Given the description of an element on the screen output the (x, y) to click on. 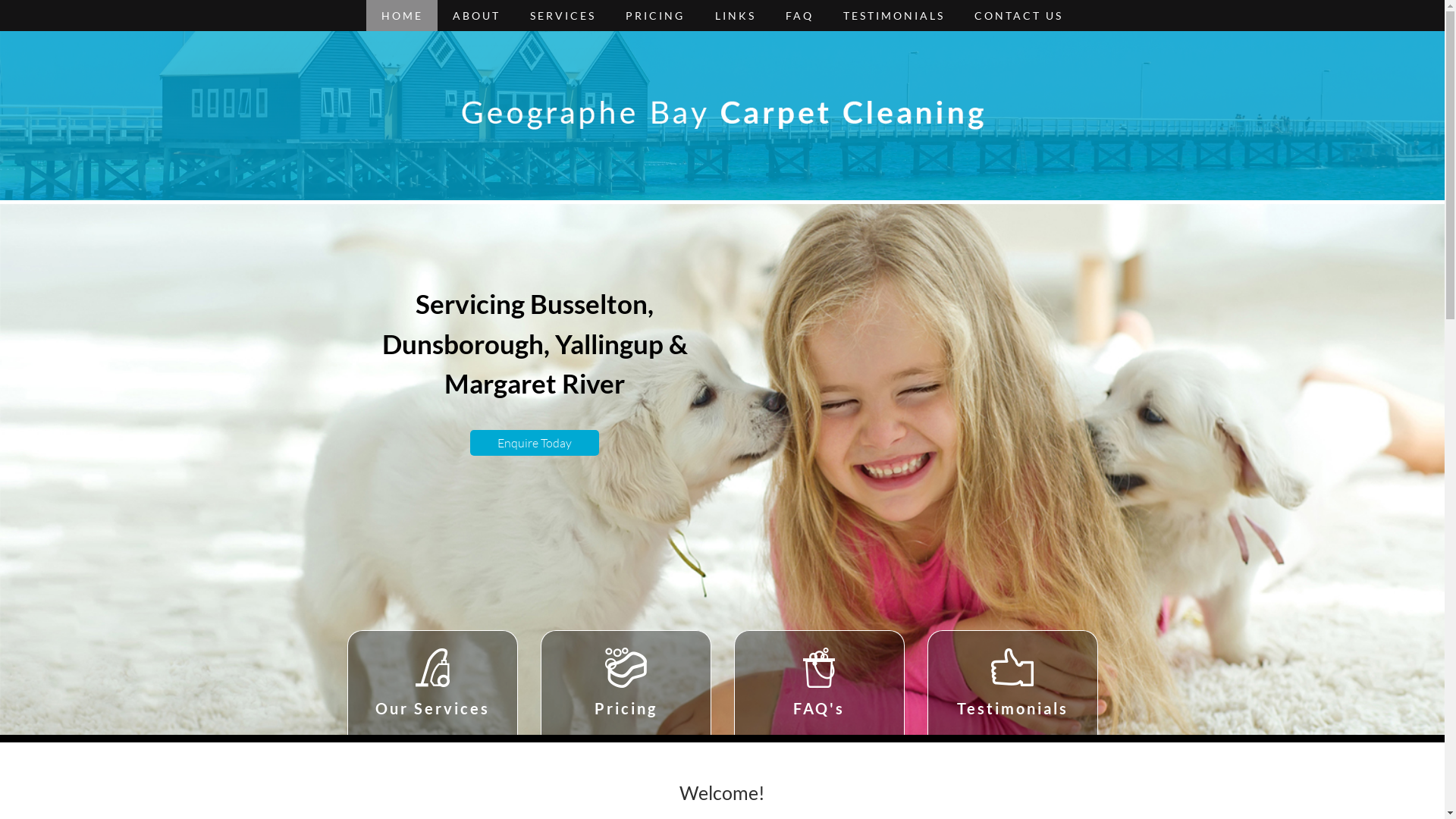
TESTIMONIALS Element type: text (893, 15)
ABOUT Element type: text (475, 15)
SERVICES Element type: text (563, 15)
FAQ's Element type: text (818, 682)
HOME Element type: text (401, 15)
Pricing Element type: text (625, 682)
FAQ Element type: text (799, 15)
Testimonials Element type: text (1012, 682)
Our Services Element type: text (431, 682)
PRICING Element type: text (655, 15)
Return to homepage Element type: hover (722, 115)
Enquire Today Element type: text (533, 442)
LINKS Element type: text (734, 15)
CONTACT US Element type: text (1019, 15)
